Given the description of an element on the screen output the (x, y) to click on. 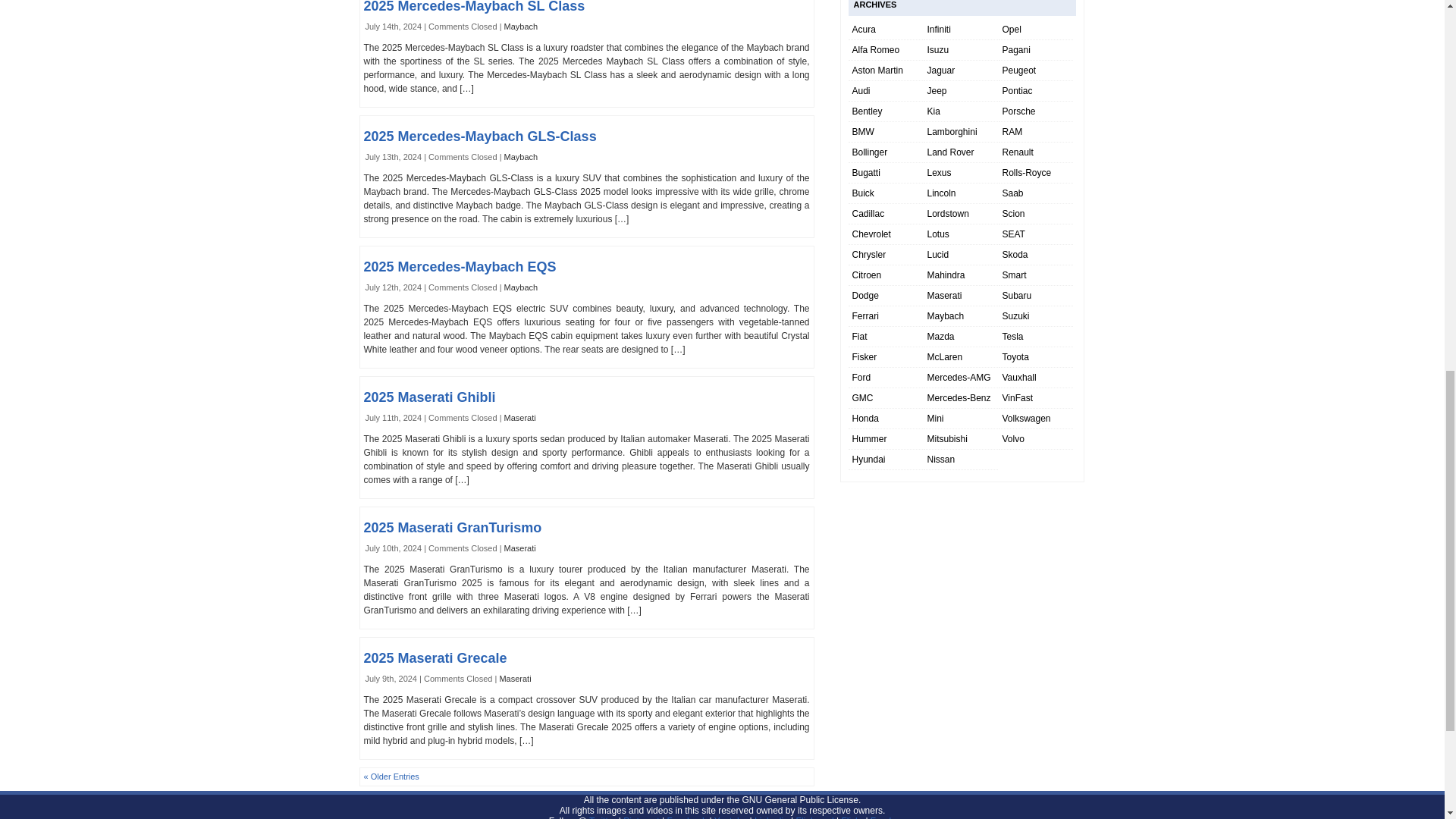
Chrysler (868, 254)
2025 Maserati Ghibli (430, 396)
2025 Mercedes-Maybach EQS (460, 266)
Buick (863, 193)
Alfa Romeo (875, 50)
Acura (863, 29)
Maybach (520, 286)
Audi (860, 90)
Maybach (520, 26)
Aston Martin (876, 70)
